Given the description of an element on the screen output the (x, y) to click on. 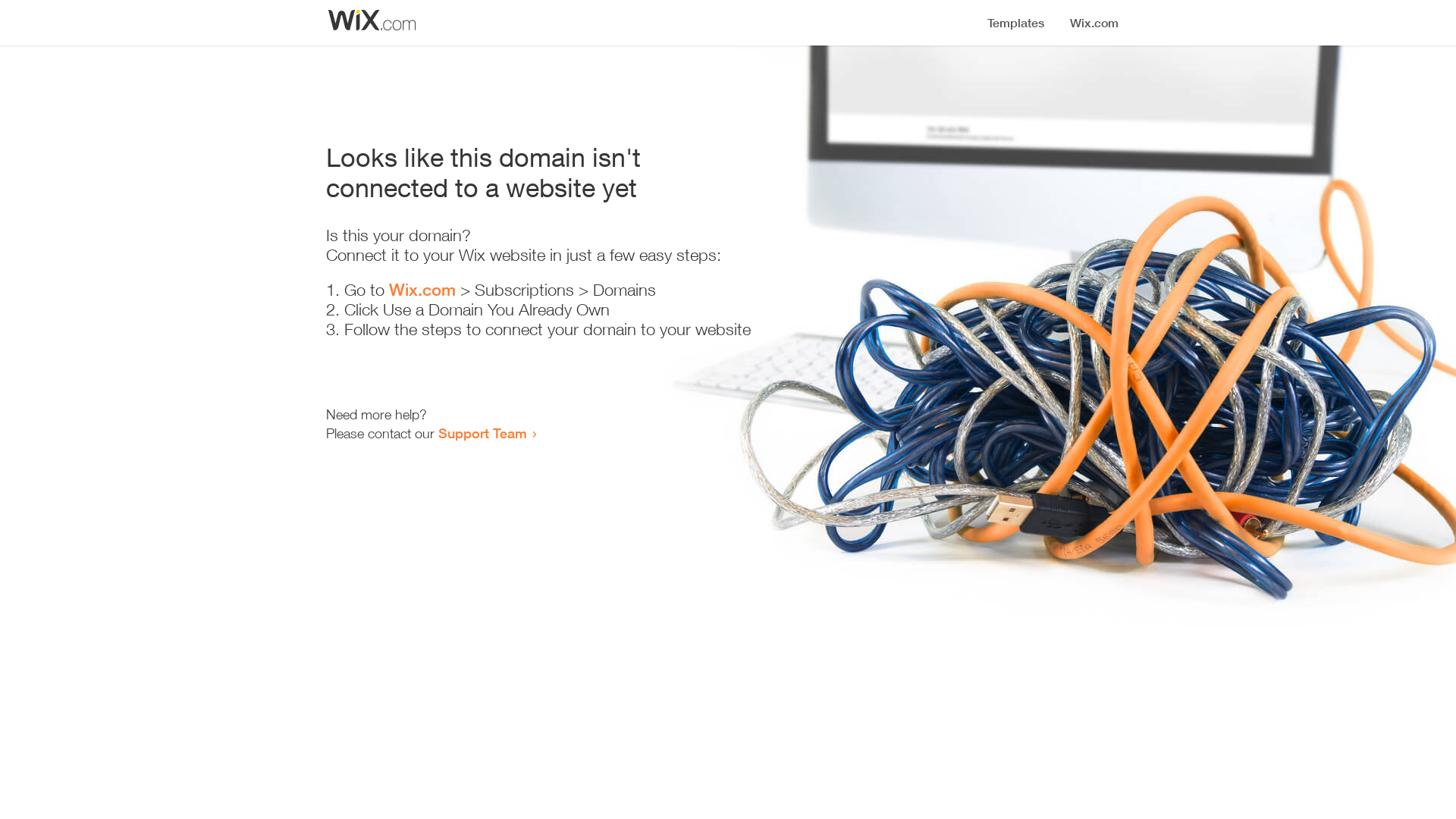
Wix.com Element type: text (422, 289)
Support Team Element type: text (482, 432)
